Given the description of an element on the screen output the (x, y) to click on. 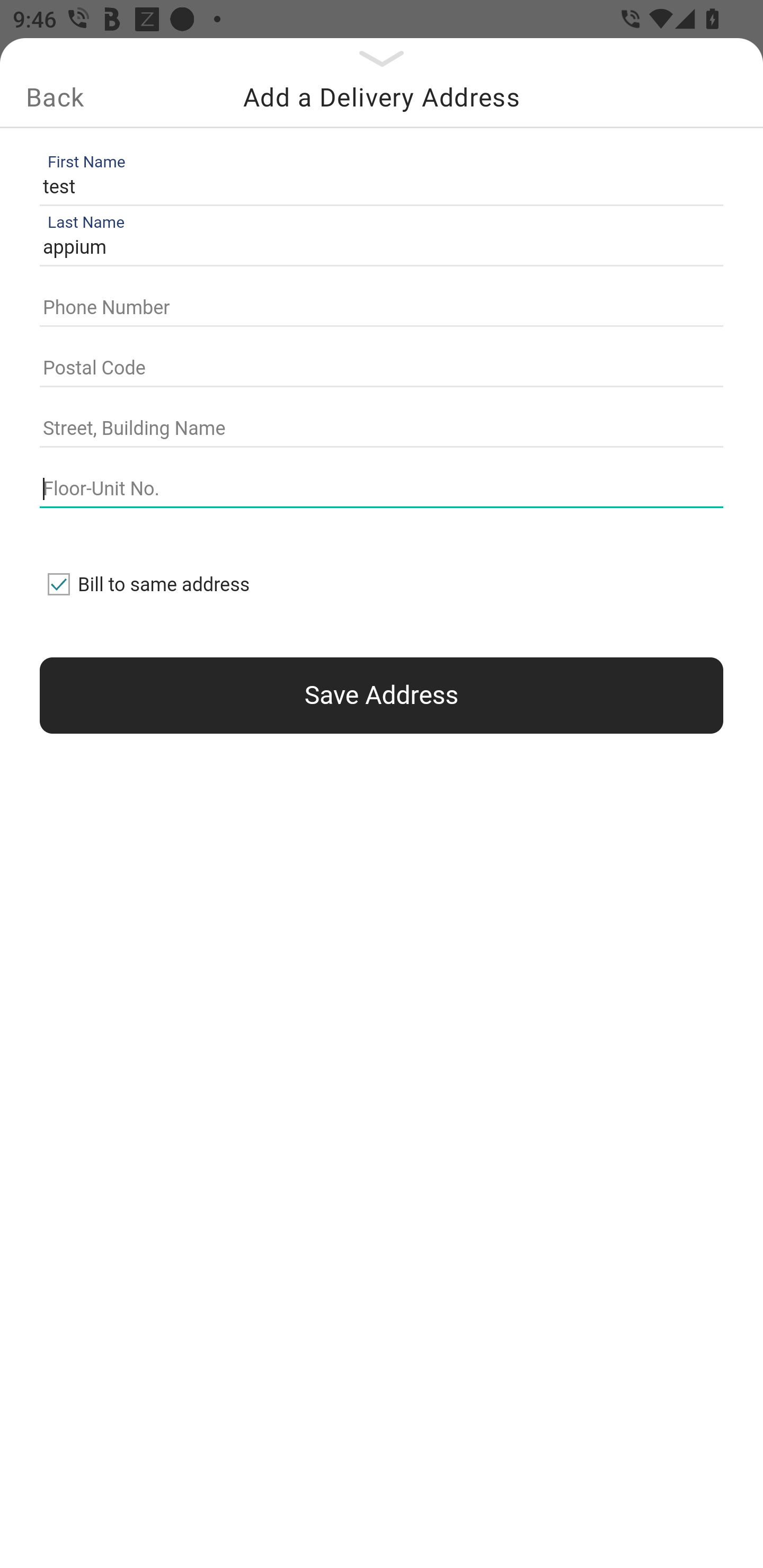
Back (54, 96)
Add a Delivery Address (381, 96)
test (377, 186)
appium (377, 247)
Save Address (381, 694)
